Given the description of an element on the screen output the (x, y) to click on. 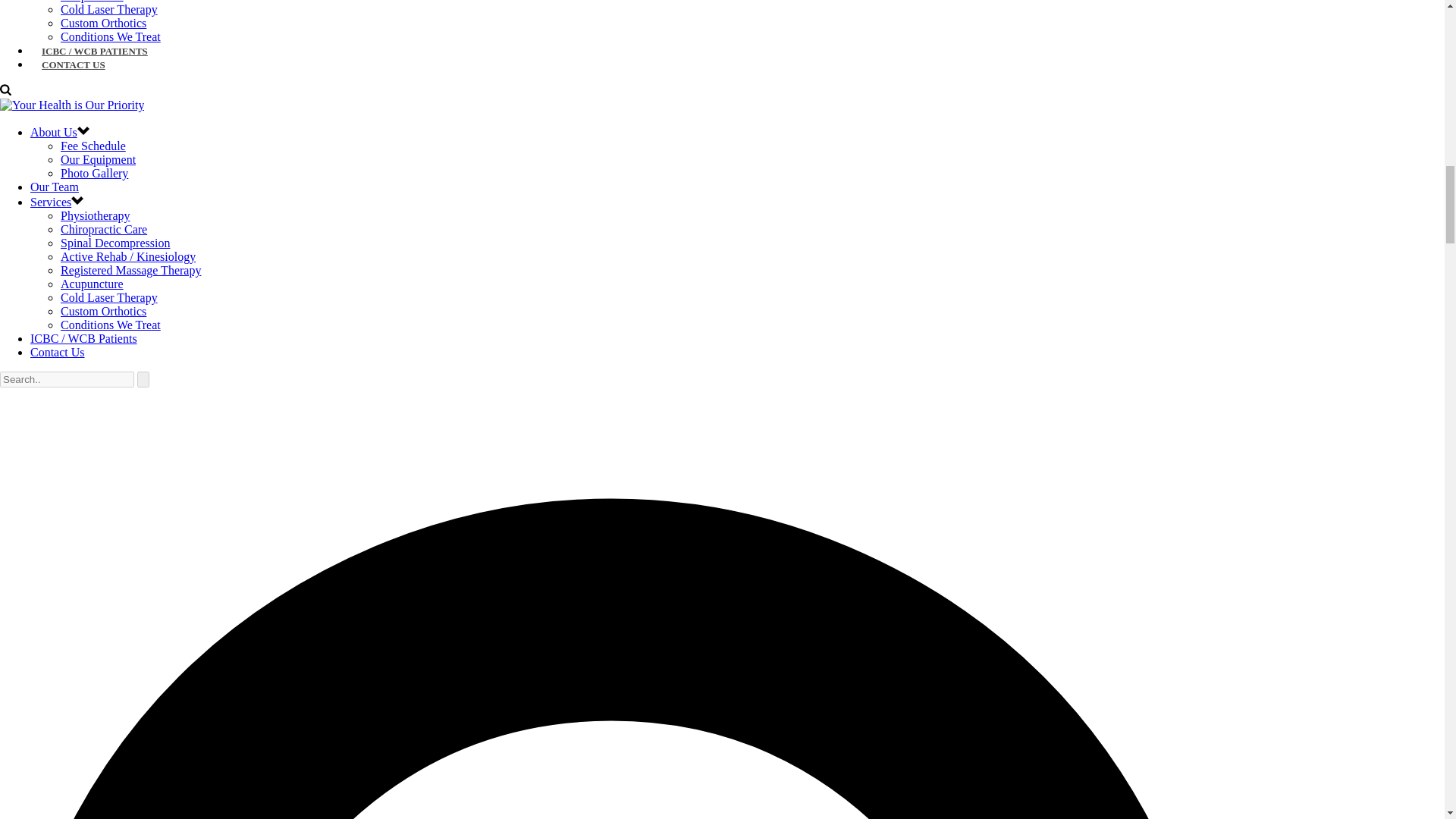
Conditions We Treat (110, 36)
Conditions We Treat (110, 36)
Custom Orthotics (104, 310)
Custom Orthotics (104, 22)
CONTACT US (73, 64)
Contact Us (57, 351)
CONTACT US (73, 64)
Services (50, 201)
Custom Orthotics (104, 310)
Custom Orthotics (104, 22)
About Us (53, 132)
Contact Us (57, 351)
Registered Massage Therapy (130, 269)
Fee Schedule (93, 145)
Cold Laser Therapy (109, 9)
